Given the description of an element on the screen output the (x, y) to click on. 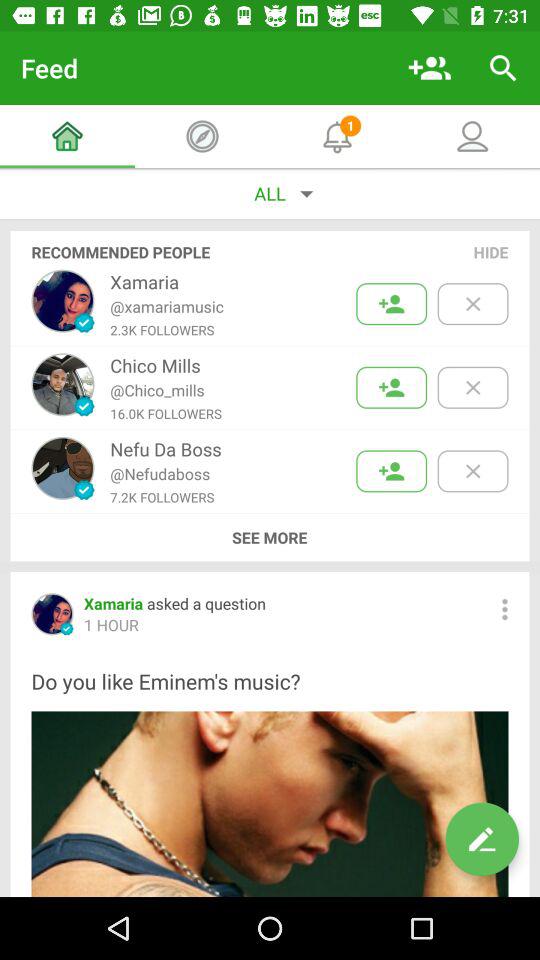
delete recommendation (472, 471)
